Given the description of an element on the screen output the (x, y) to click on. 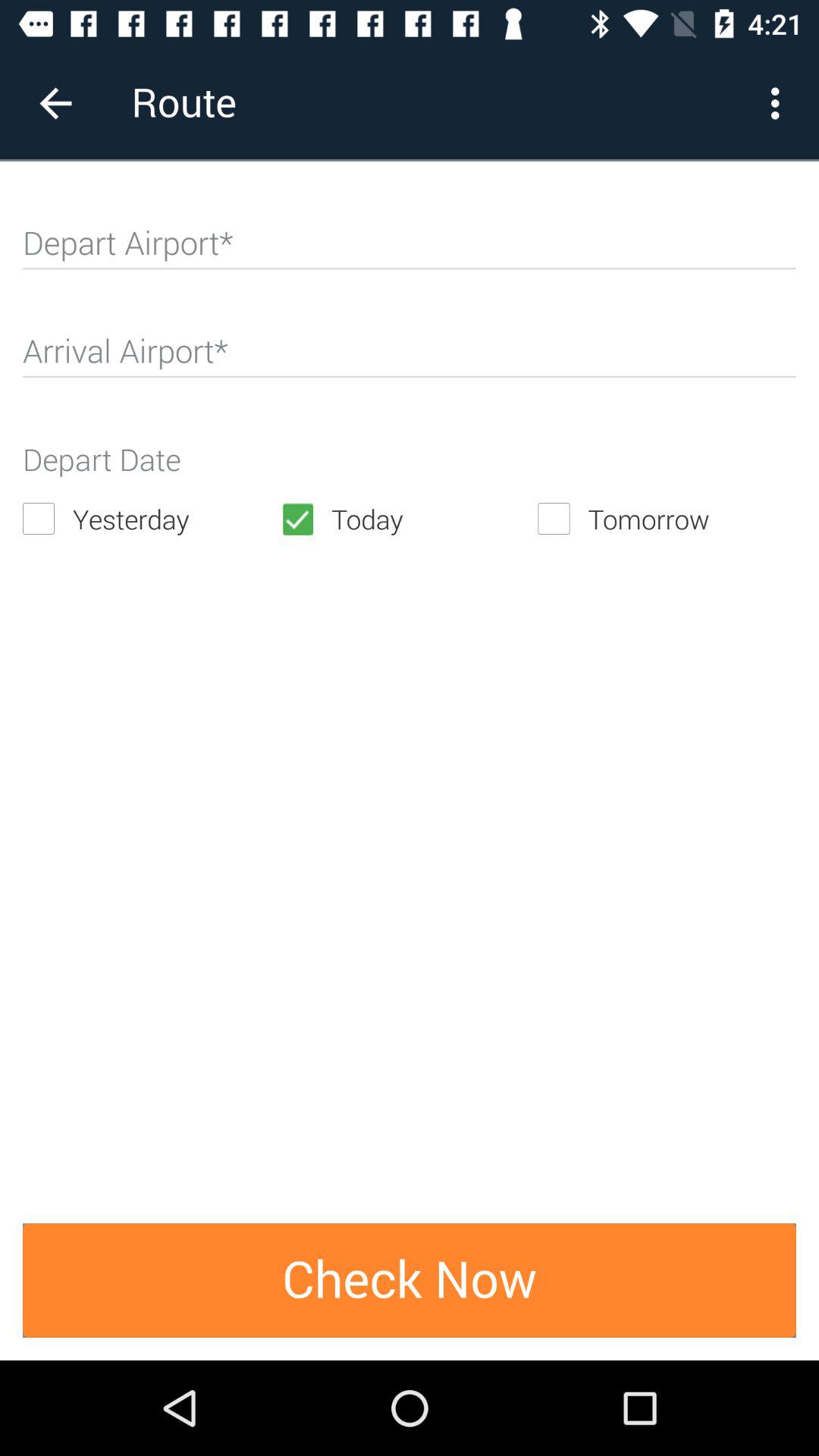
route start (409, 249)
